Given the description of an element on the screen output the (x, y) to click on. 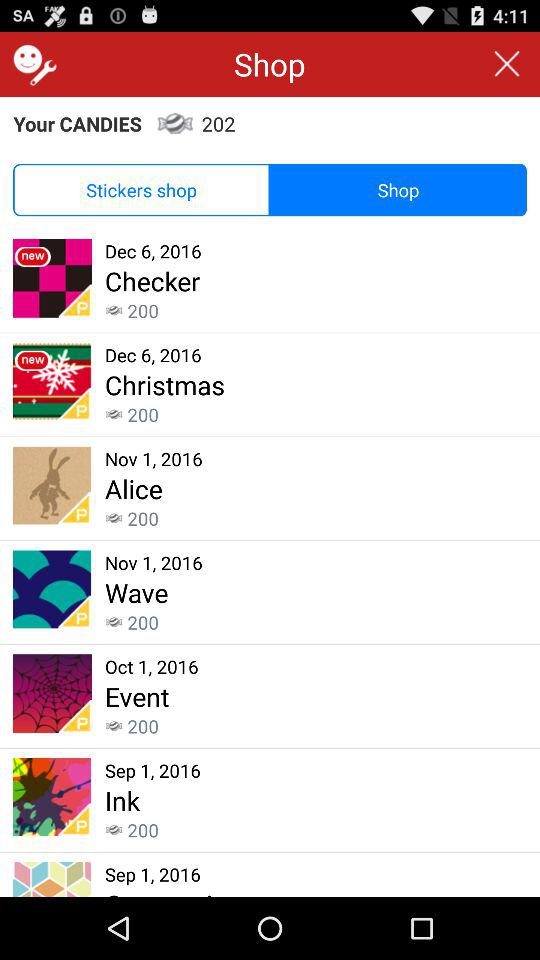
turn on item to the left of shop (32, 64)
